Given the description of an element on the screen output the (x, y) to click on. 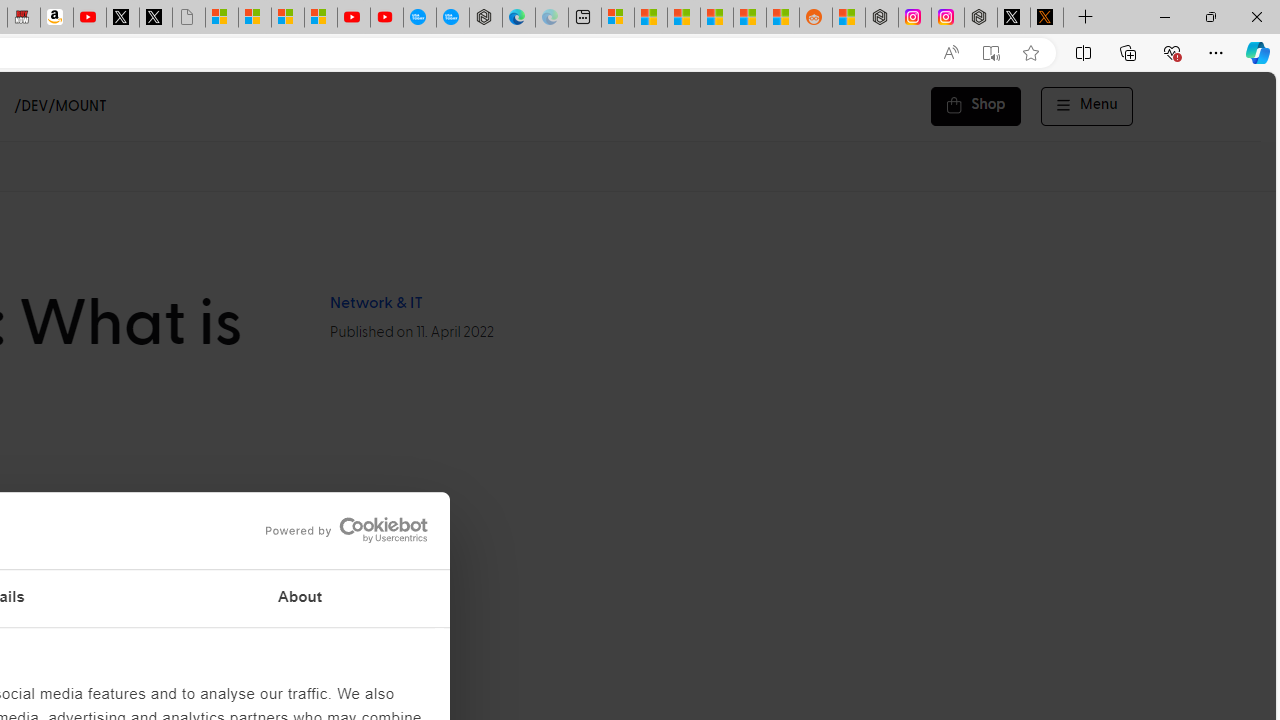
Powered by Cookiebot (345, 530)
